Given the description of an element on the screen output the (x, y) to click on. 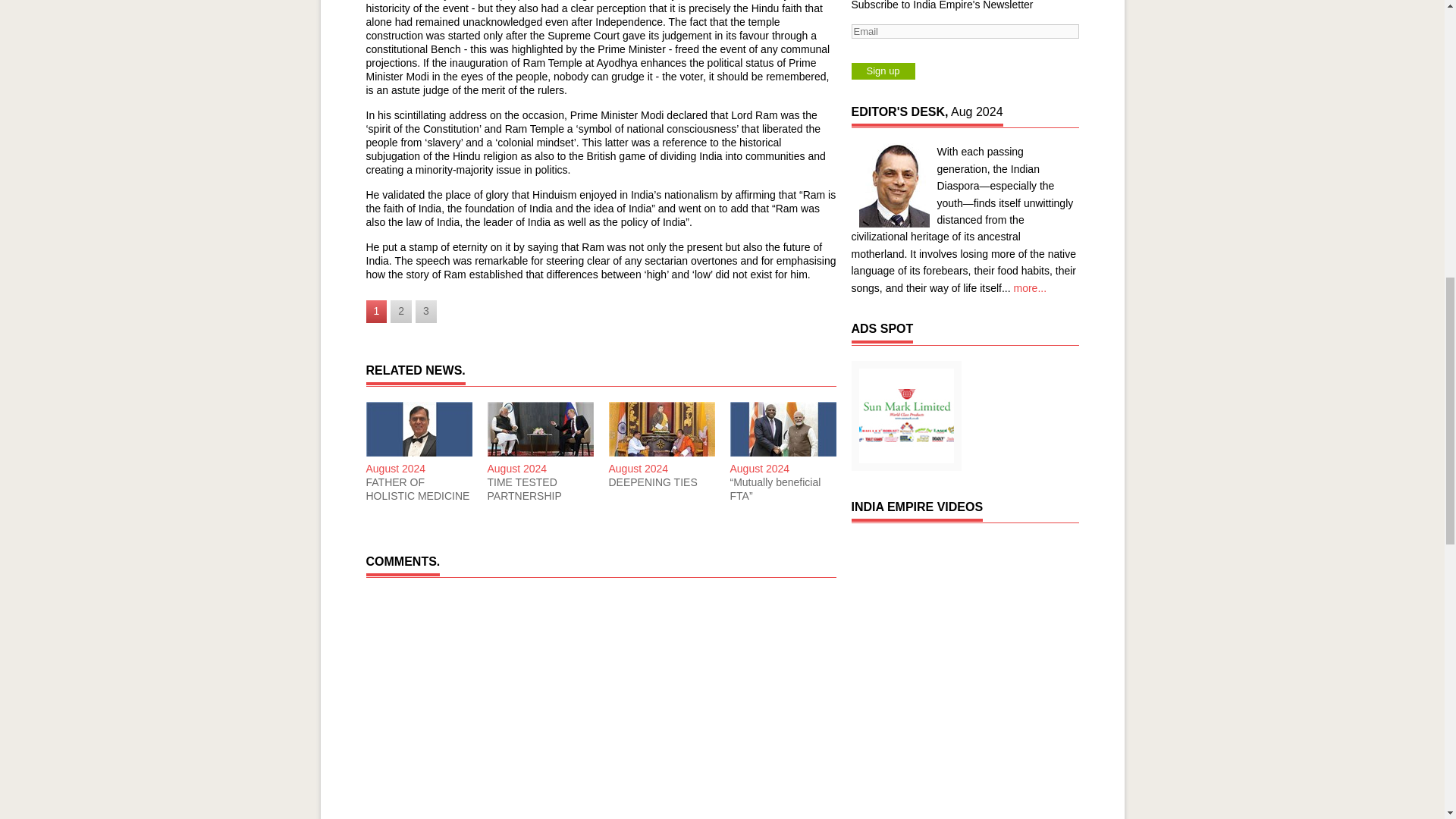
1 (376, 311)
Sign up (882, 71)
FATHER OF HOLISTIC MEDICINE (418, 488)
DEEPENING TIES (661, 481)
TIME TESTED PARTNERSHIP (539, 488)
2 (401, 311)
3 (425, 311)
